Given the description of an element on the screen output the (x, y) to click on. 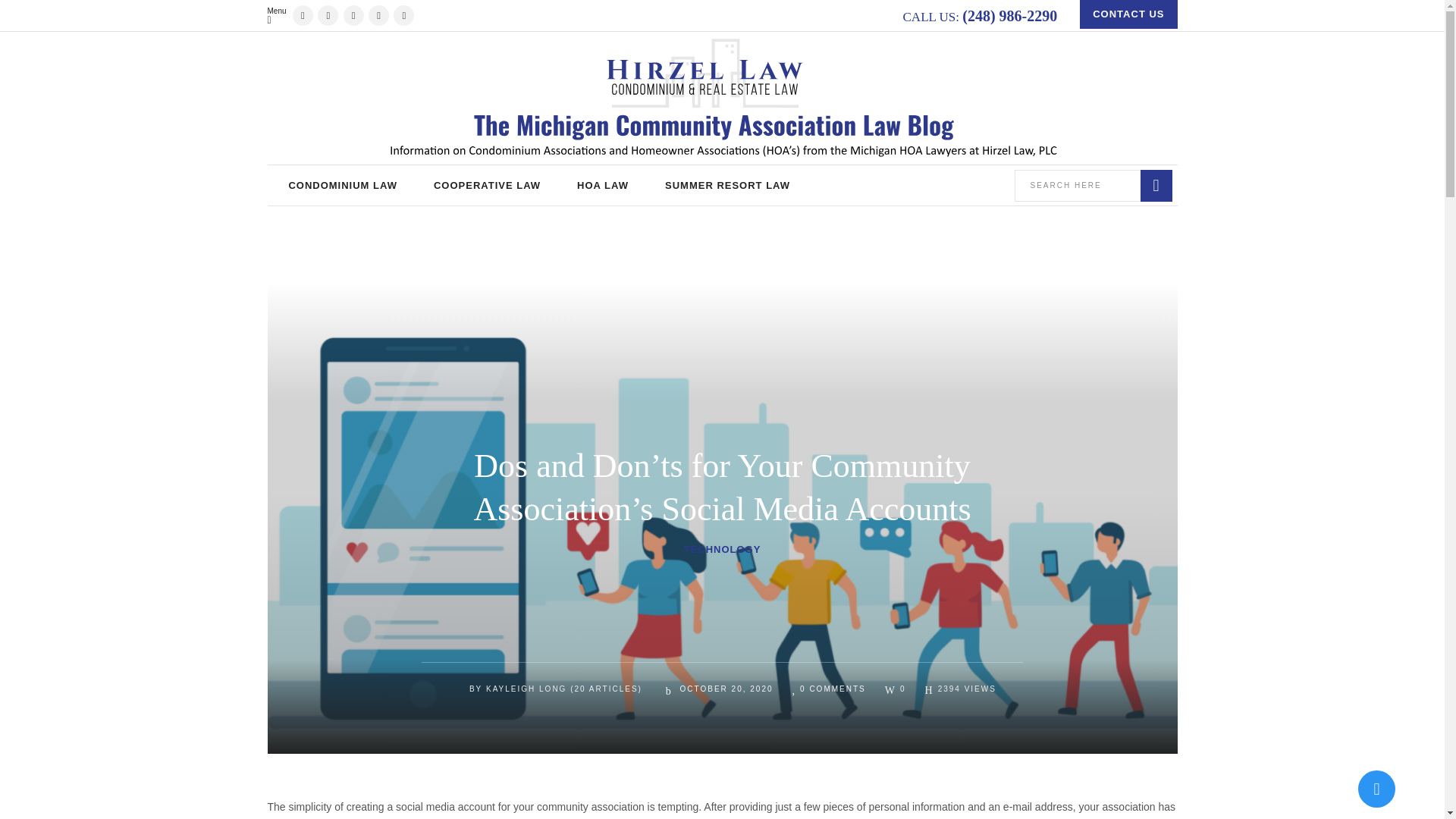
CONDOMINIUM LAW (341, 185)
HOA LAW (602, 185)
Like this (895, 688)
COOPERATIVE LAW (486, 185)
CONTACT US (1128, 14)
